Given the description of an element on the screen output the (x, y) to click on. 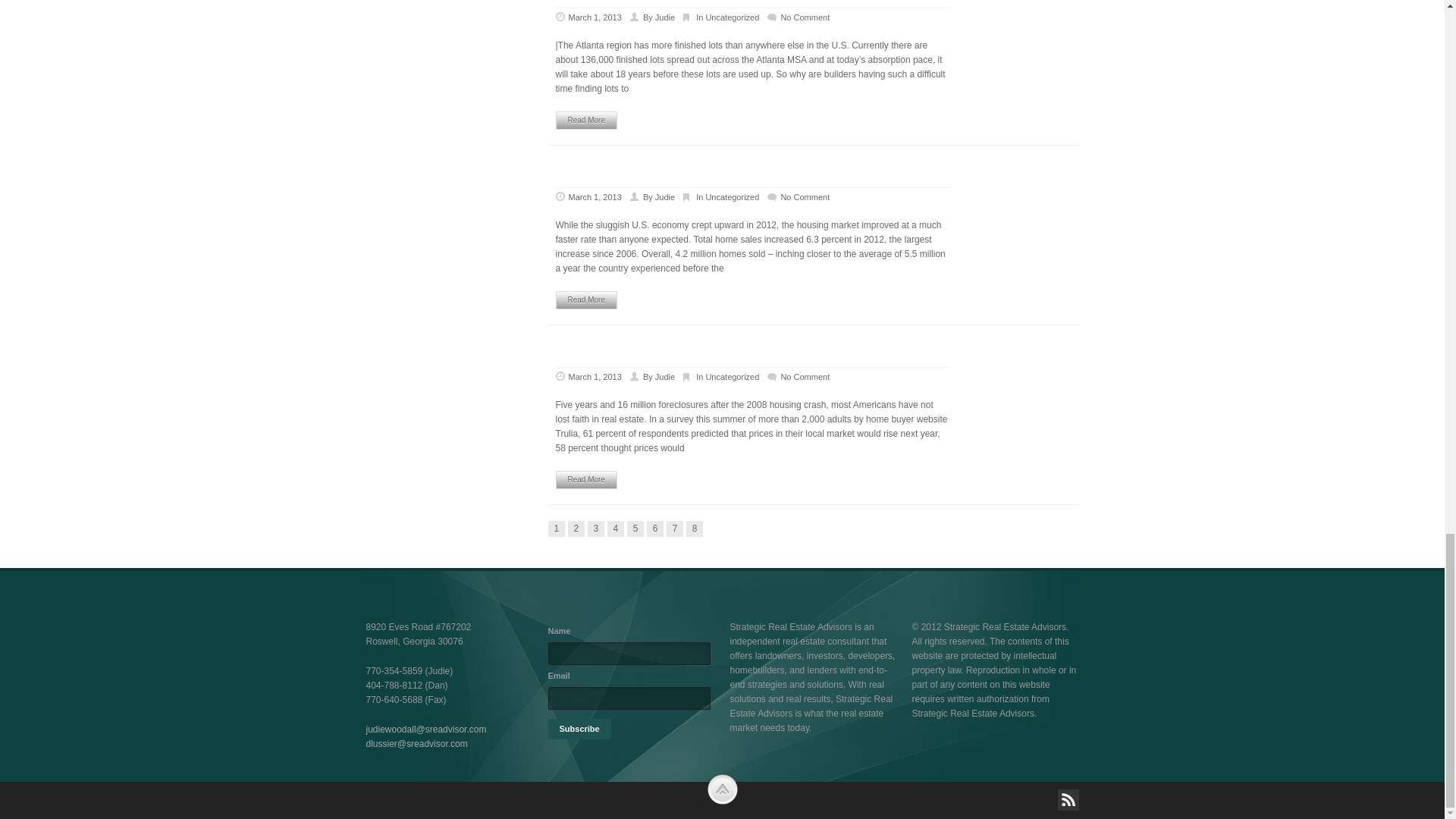
Subscribe (578, 729)
